Given the description of an element on the screen output the (x, y) to click on. 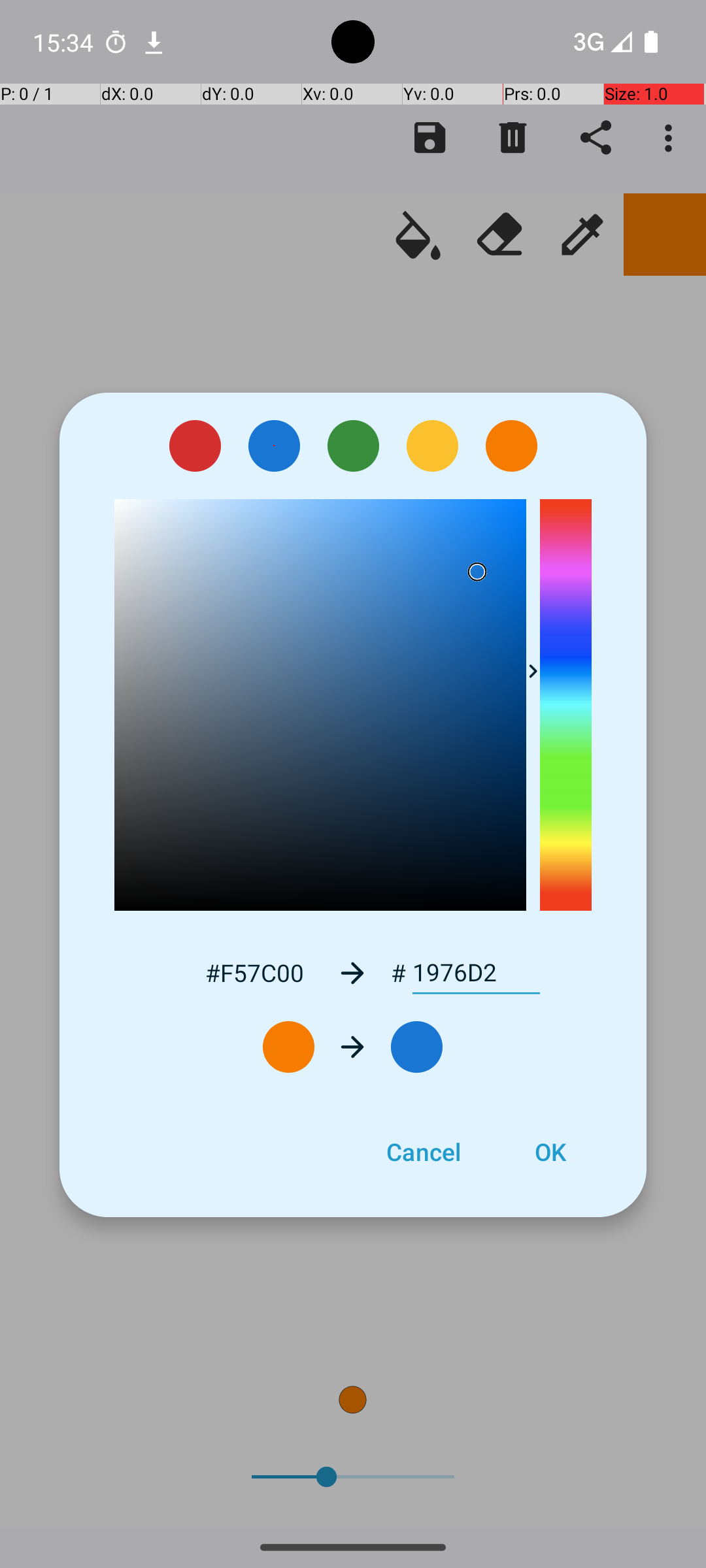
1976D2 Element type: android.widget.EditText (475, 972)
